Given the description of an element on the screen output the (x, y) to click on. 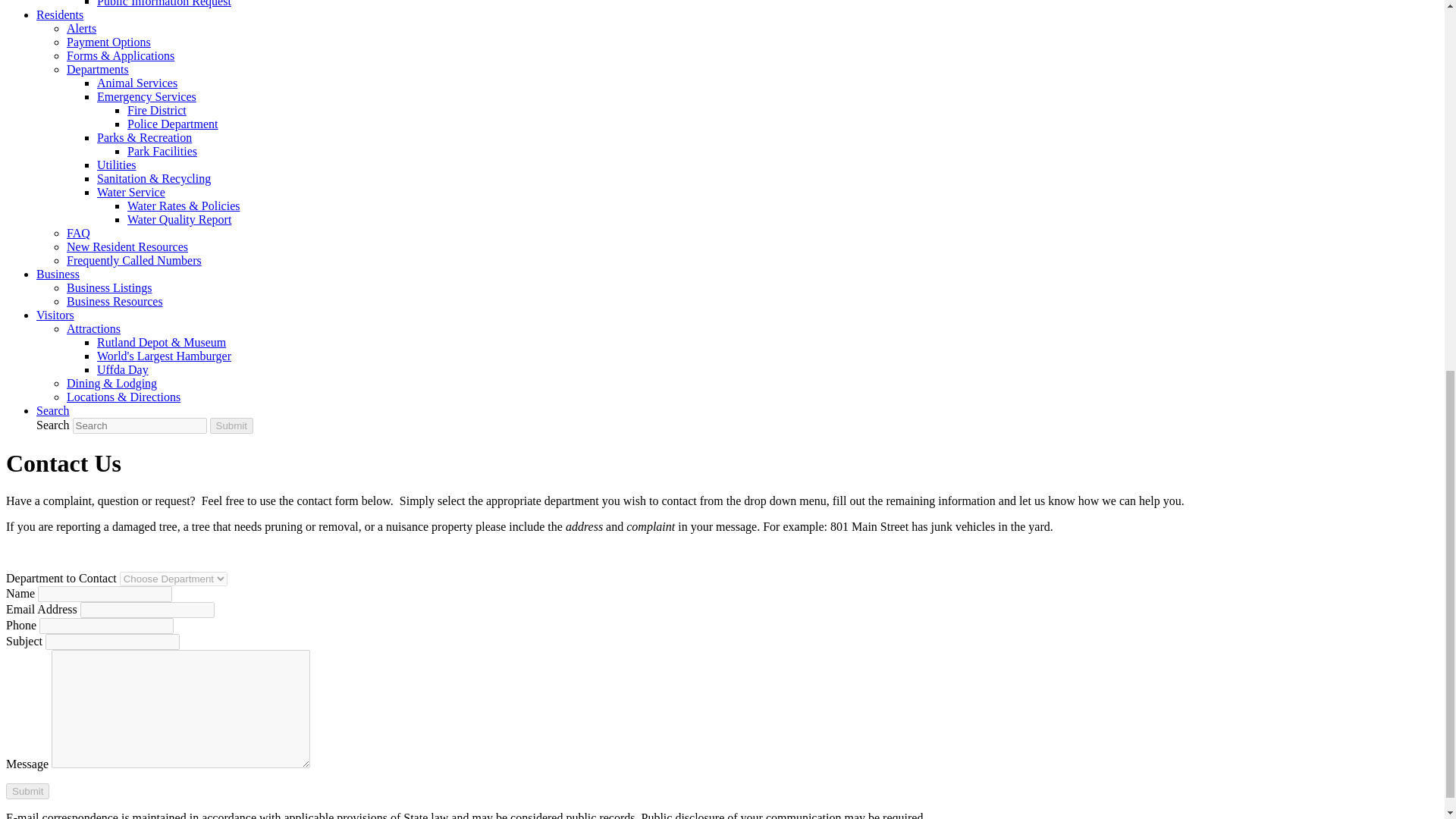
Submit (27, 790)
